Given the description of an element on the screen output the (x, y) to click on. 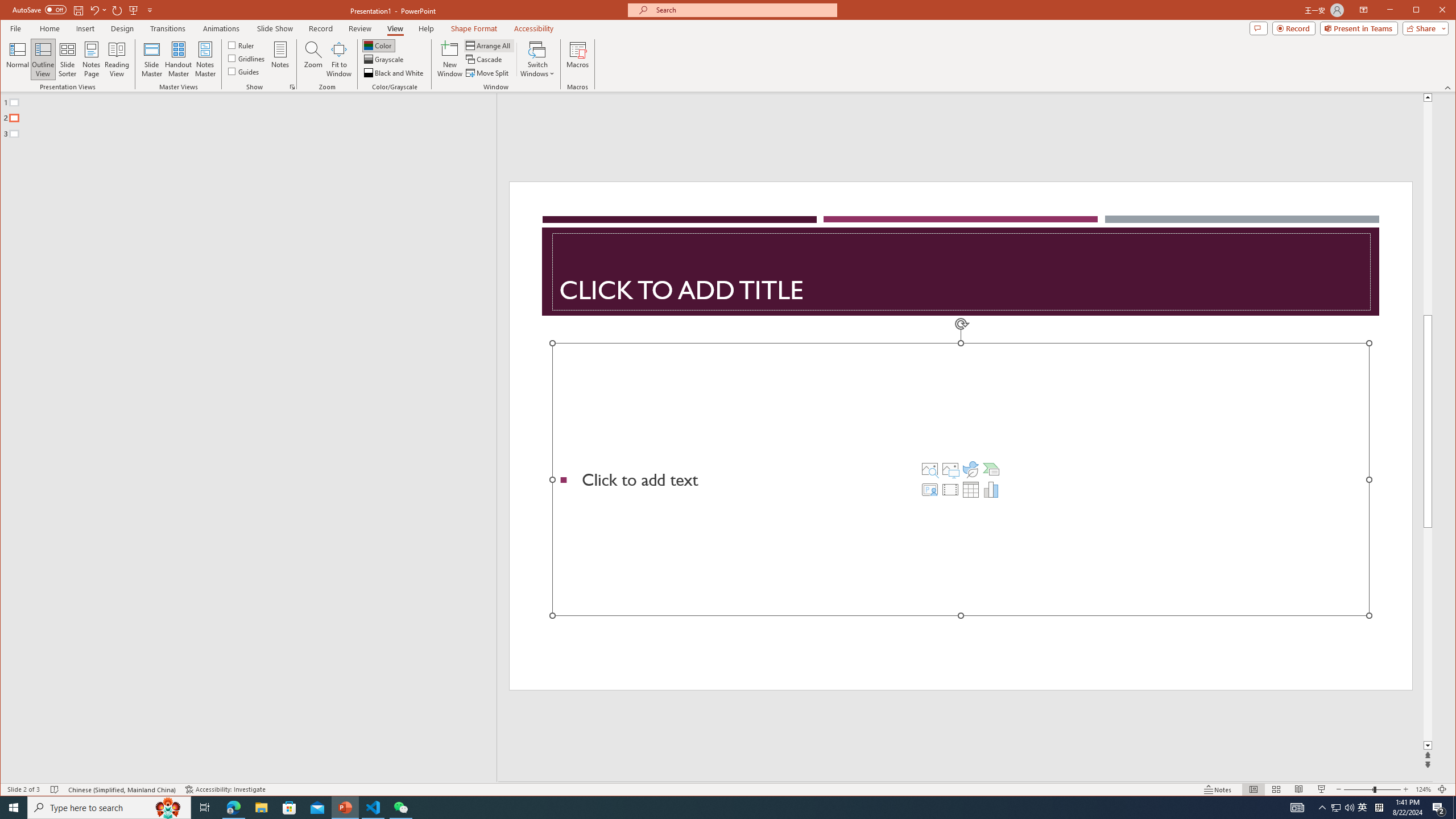
Running applications (707, 807)
Outline (252, 115)
Handout Master (178, 59)
Macros (576, 59)
Stock Images (929, 469)
Content Placeholder (960, 479)
